Given the description of an element on the screen output the (x, y) to click on. 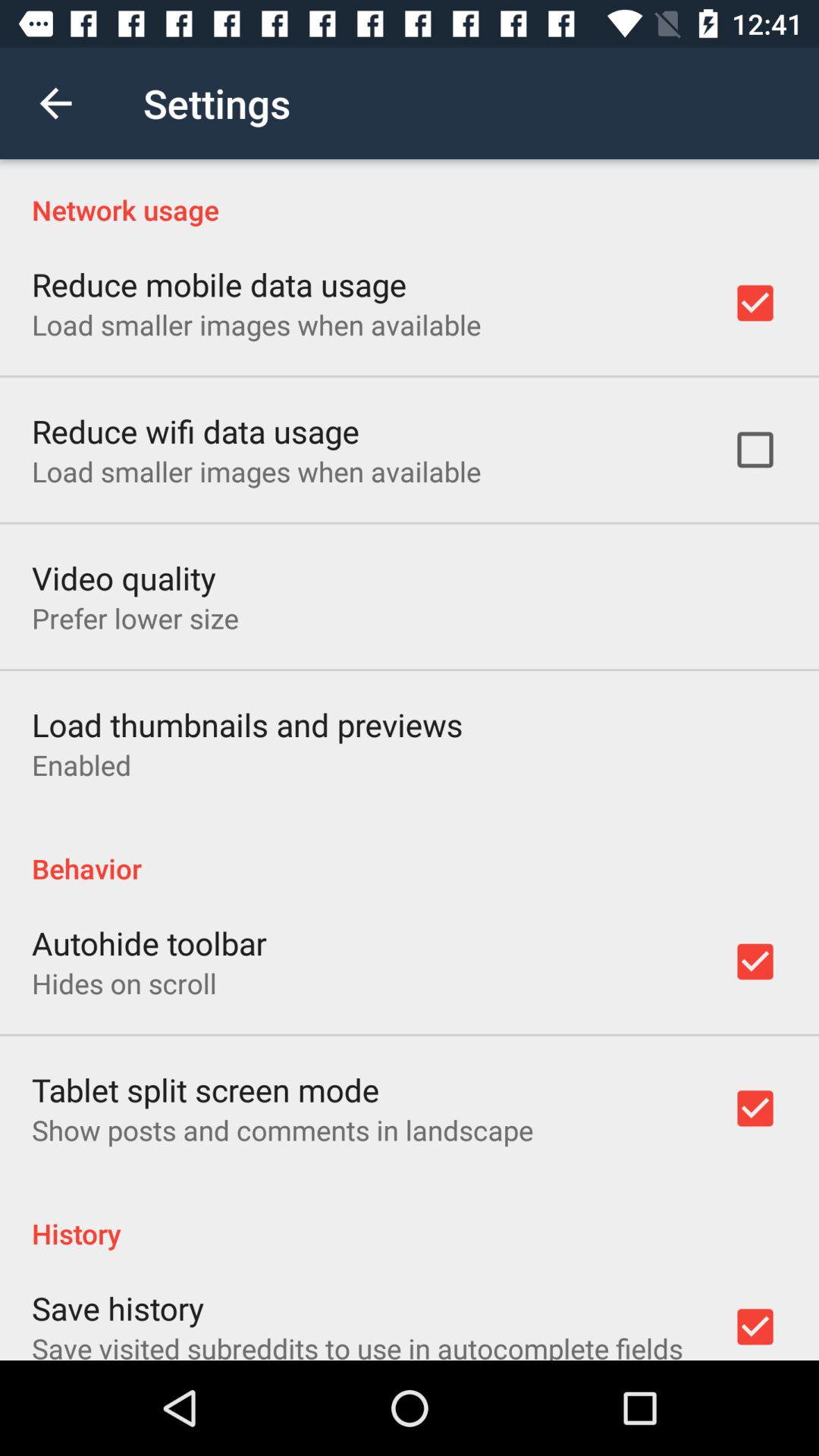
tap icon above show posts and (205, 1089)
